Given the description of an element on the screen output the (x, y) to click on. 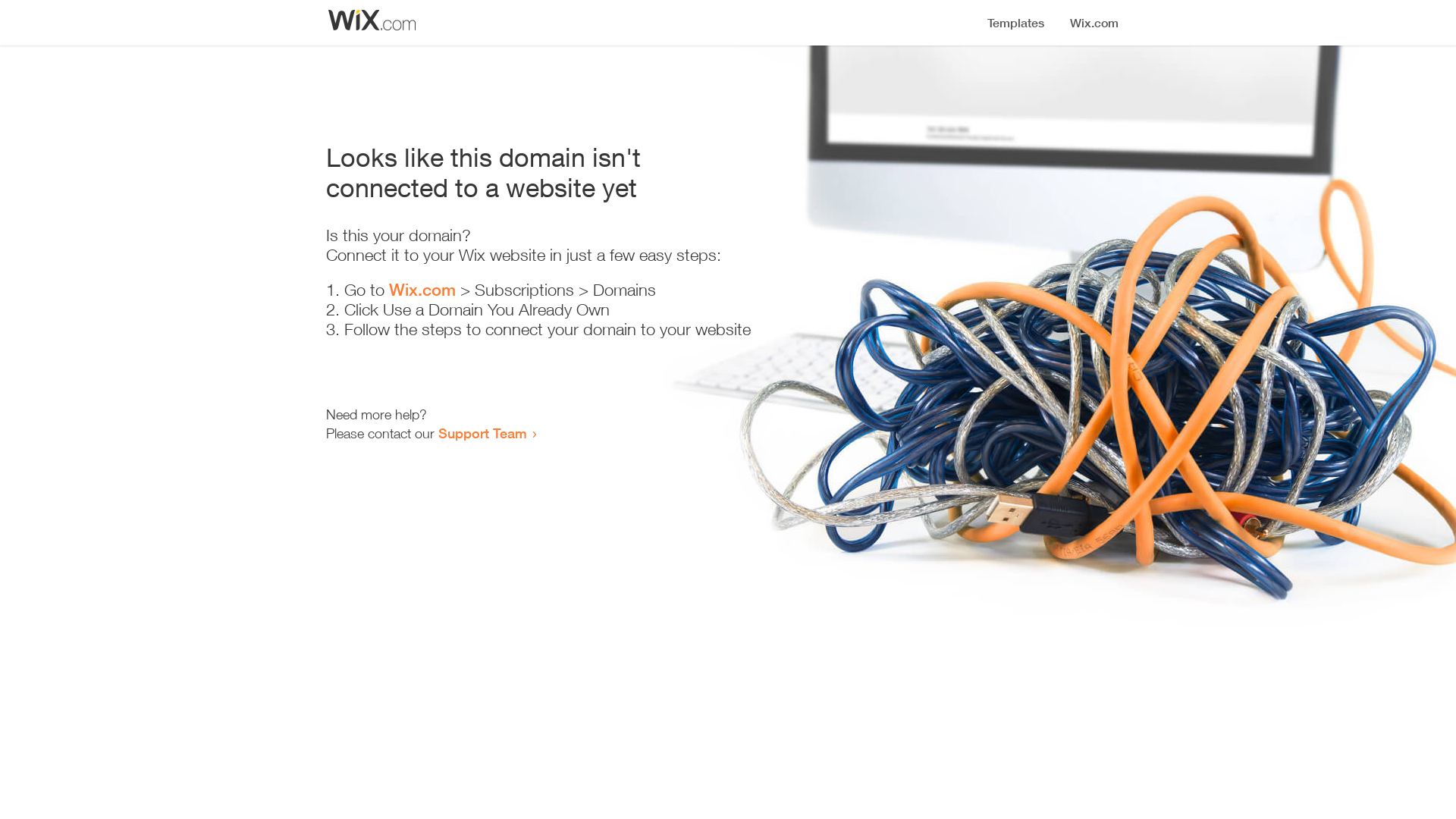
Support Team Element type: text (482, 432)
Wix.com Element type: text (422, 289)
